Given the description of an element on the screen output the (x, y) to click on. 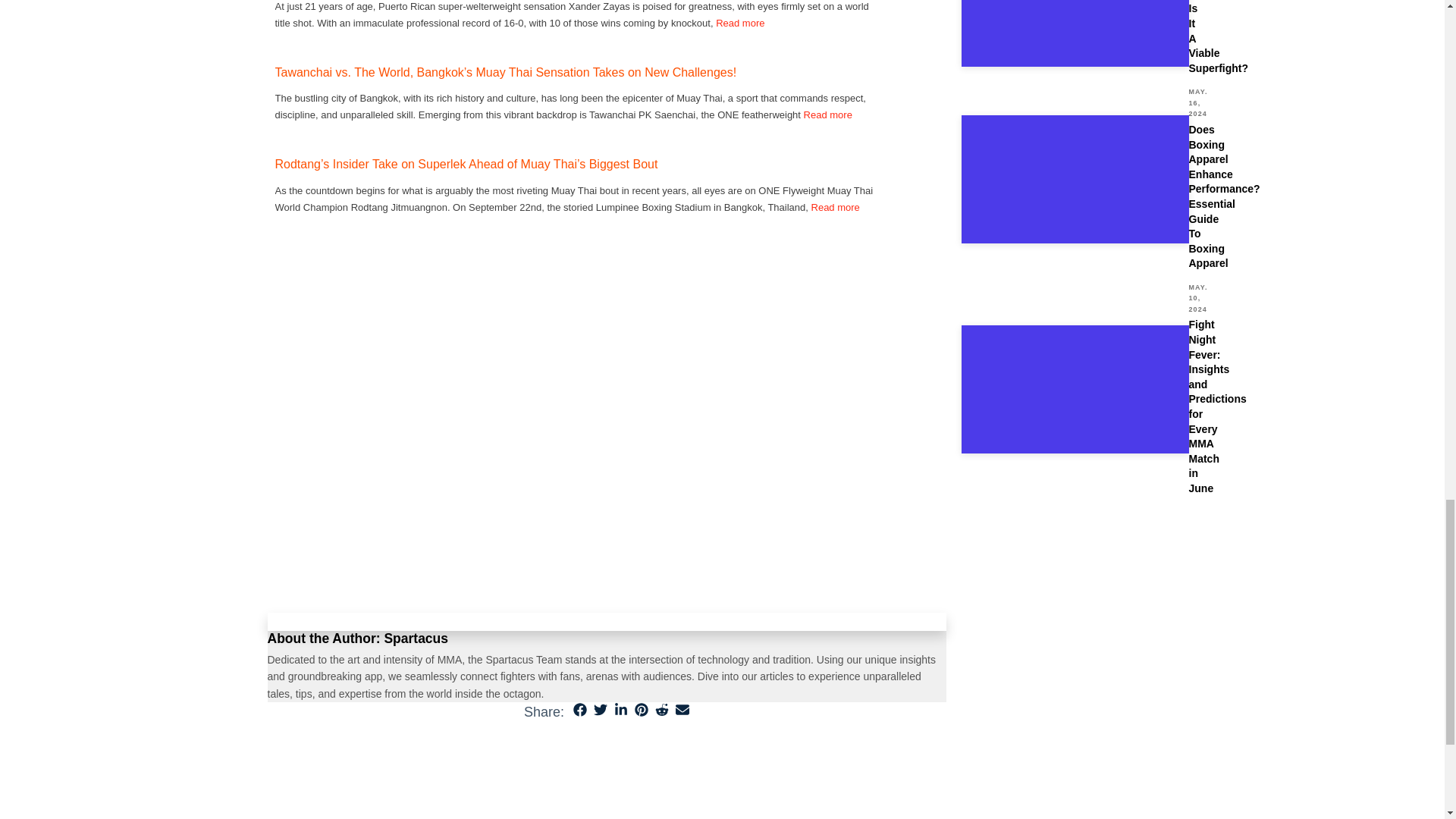
Read more (740, 22)
Read more (827, 114)
Read more (835, 206)
